Given the description of an element on the screen output the (x, y) to click on. 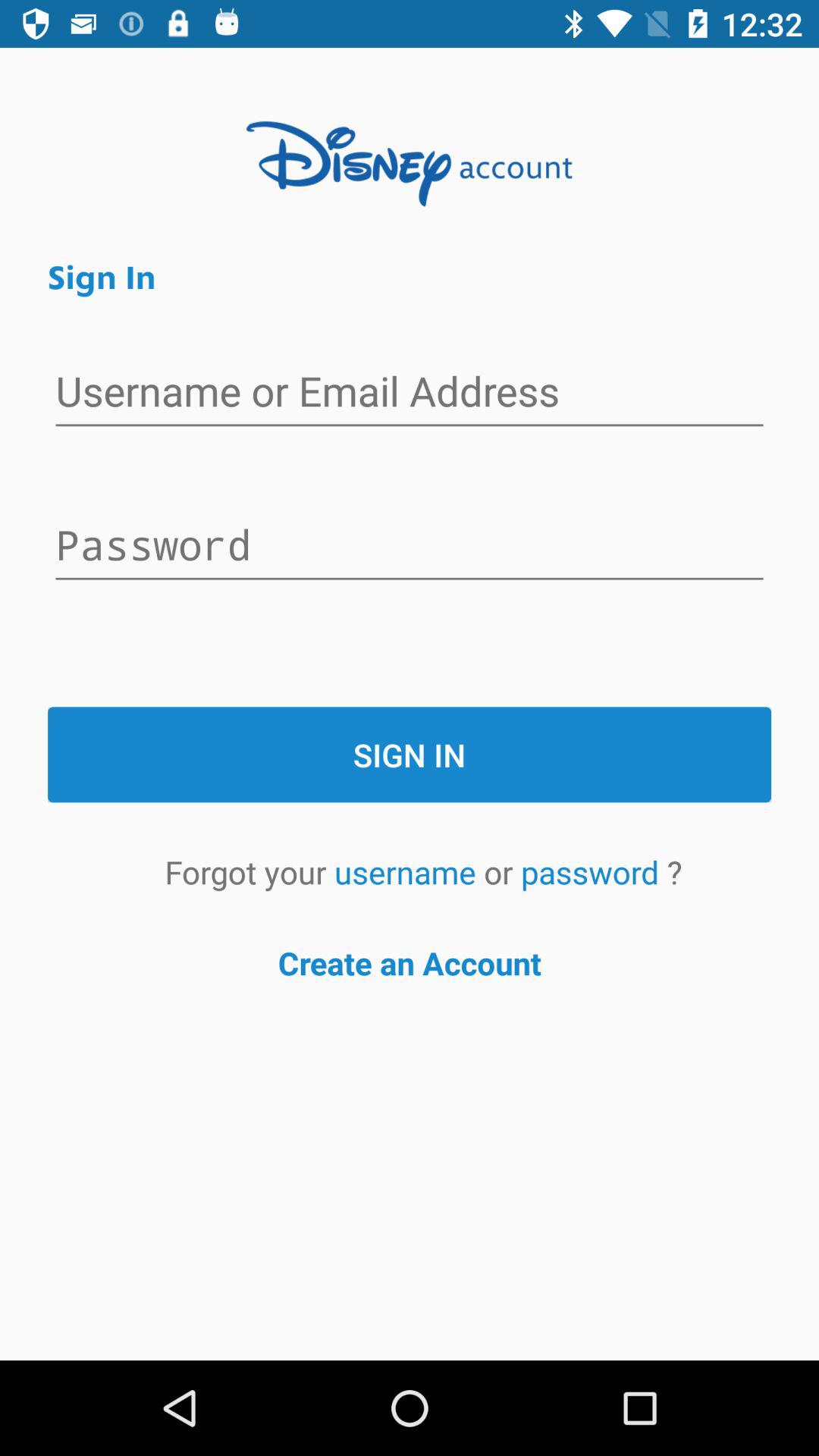
toggle password (409, 546)
